Given the description of an element on the screen output the (x, y) to click on. 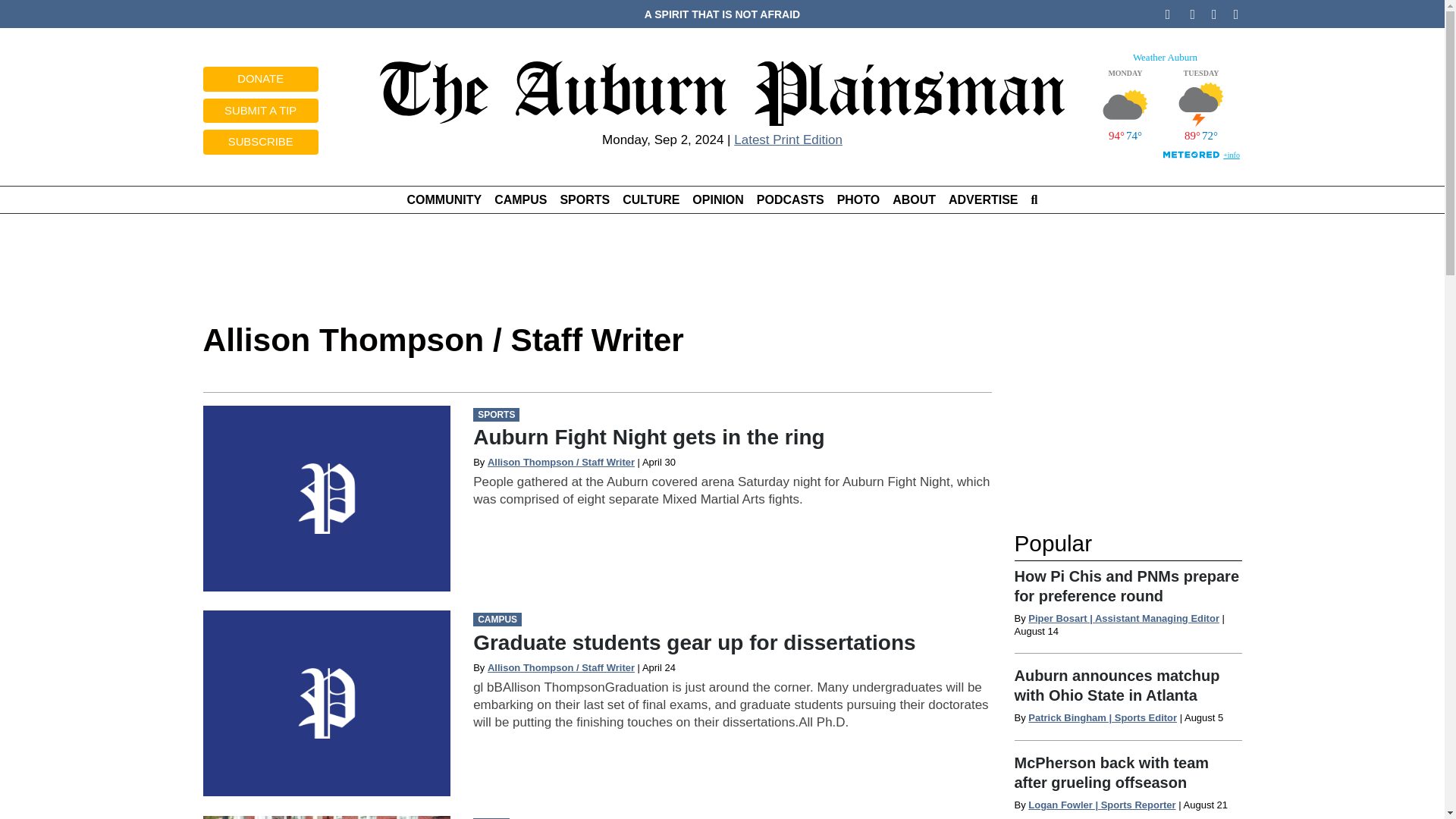
Community (443, 199)
Culture (650, 199)
SPORTS (584, 199)
Student Recruiters impact prospective students (327, 817)
ABOUT (914, 199)
SUBMIT A TIP (260, 110)
DONATE (260, 78)
Graduate students gear up for dissertations (694, 642)
Podcasts (789, 199)
COMMUNITY (443, 199)
